Given the description of an element on the screen output the (x, y) to click on. 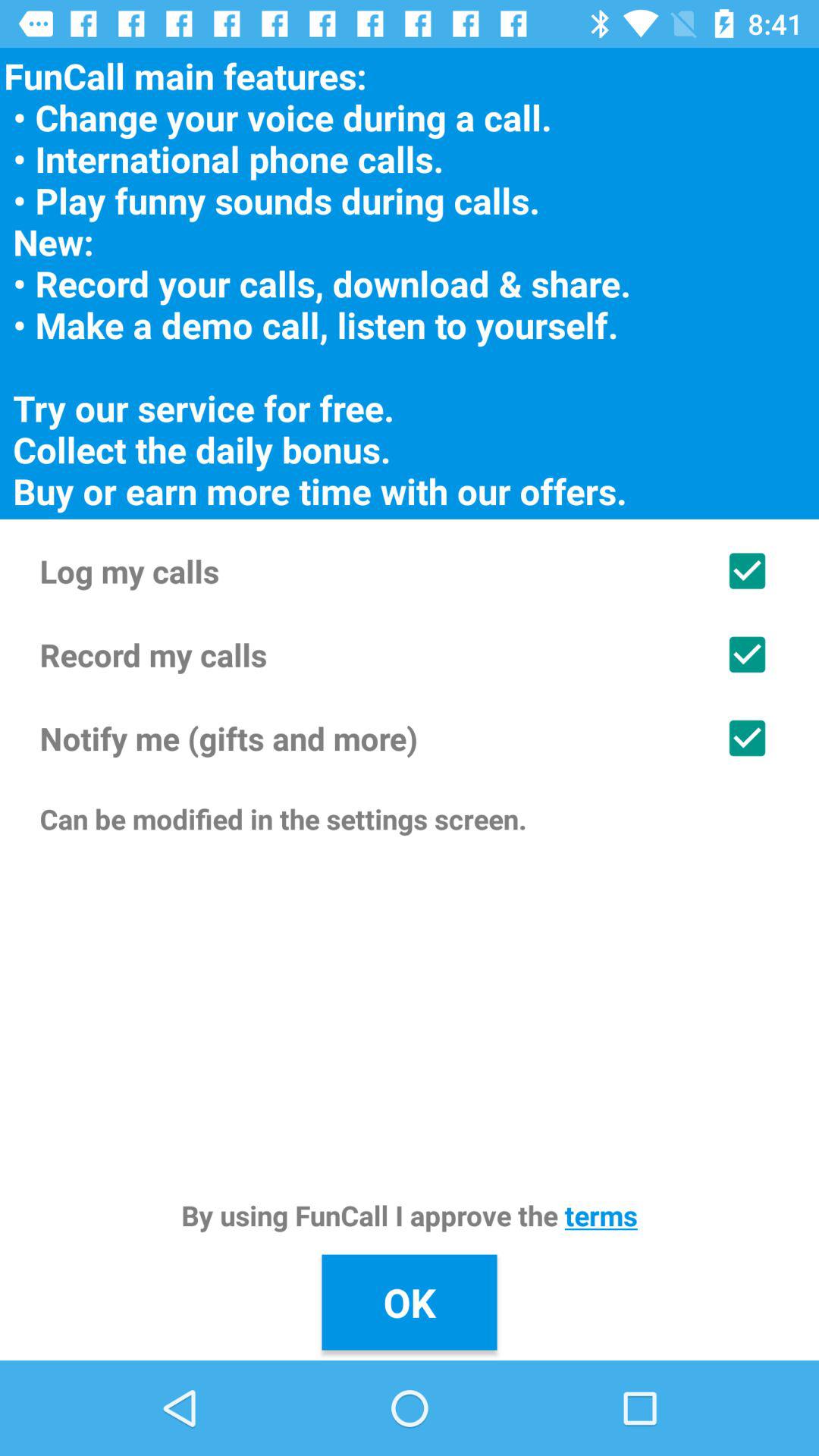
turn on the app above can be modified (409, 738)
